Given the description of an element on the screen output the (x, y) to click on. 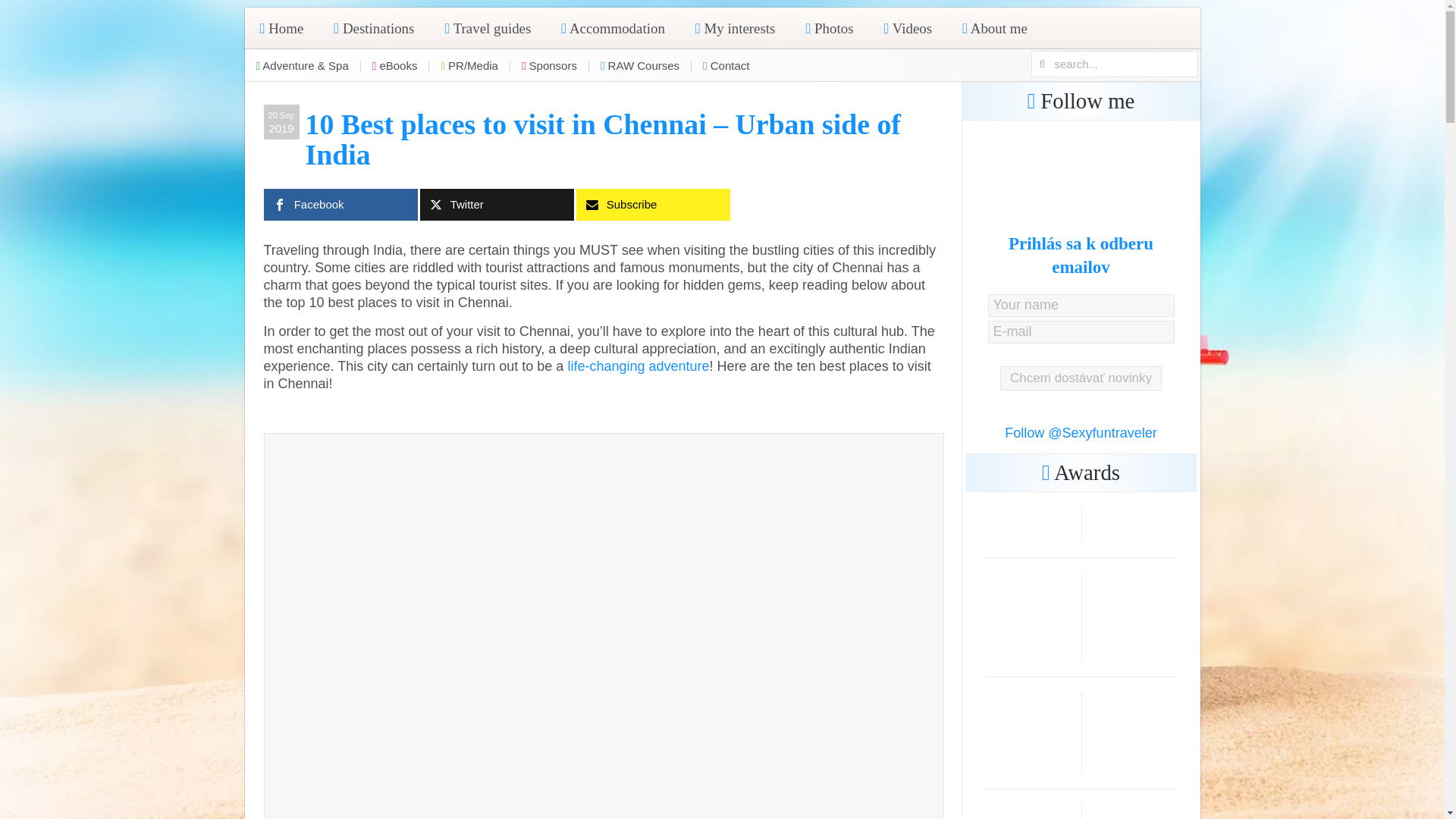
Home (281, 28)
Destinations (373, 28)
Videos (907, 28)
My interests (734, 28)
Twitter (496, 204)
About me (994, 28)
eBooks (394, 65)
RAW Courses (639, 65)
Facebook (340, 204)
Photos (828, 28)
